Given the description of an element on the screen output the (x, y) to click on. 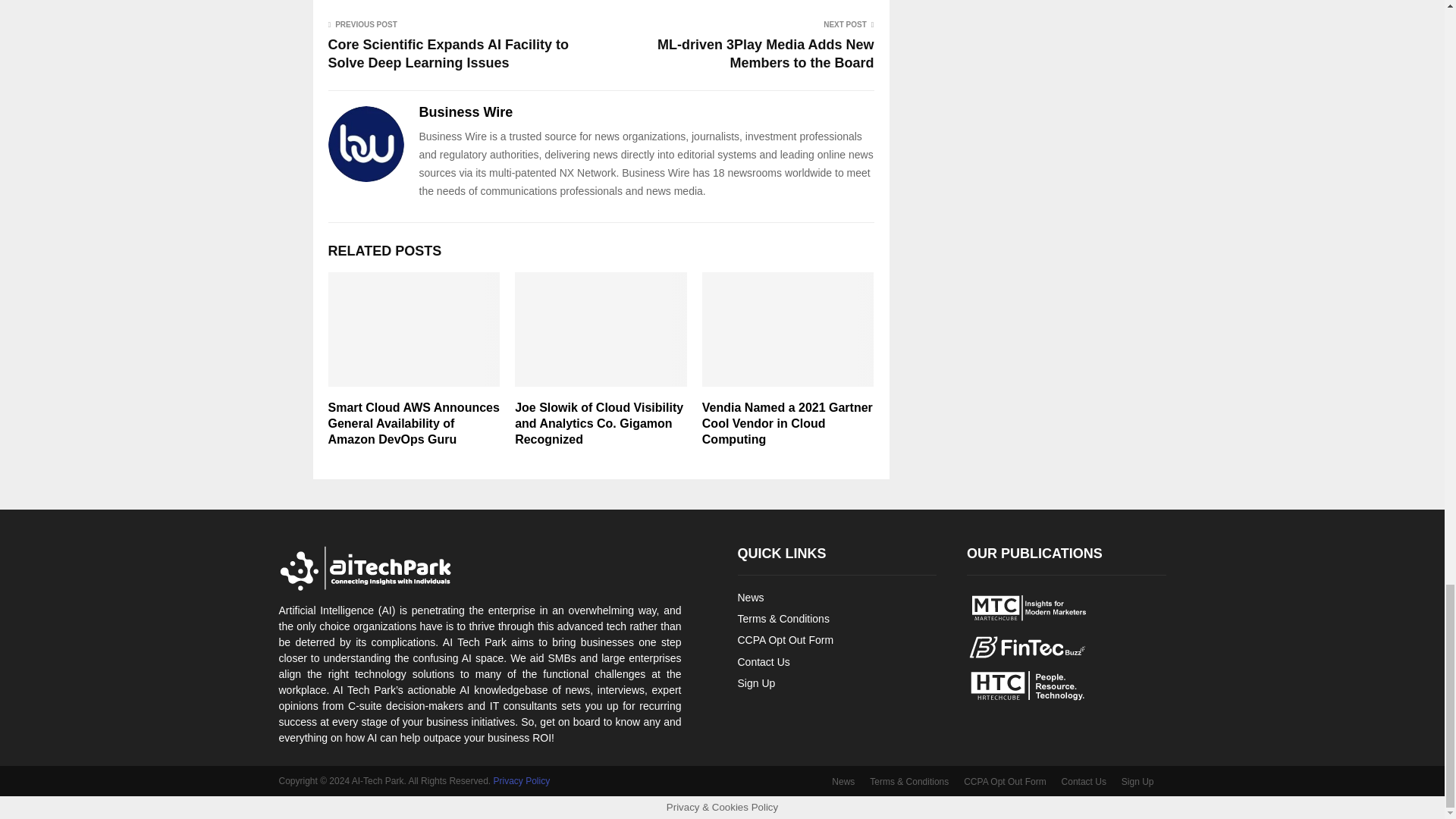
Posts by Business Wire (465, 112)
